Given the description of an element on the screen output the (x, y) to click on. 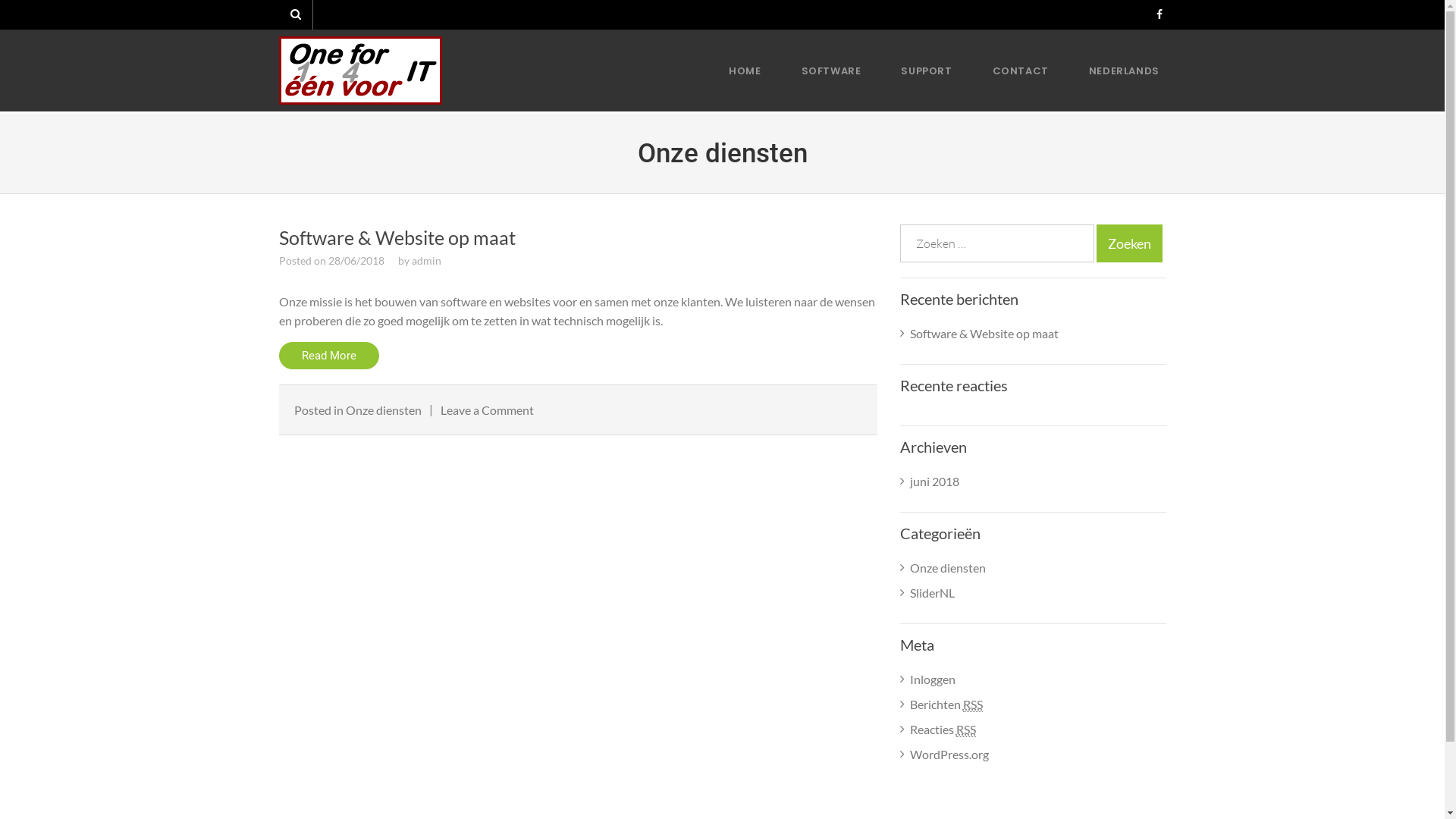
HOME Element type: text (744, 69)
Onze diensten Element type: text (947, 567)
Inloggen Element type: text (932, 678)
admin Element type: text (425, 260)
NEDERLANDS Element type: text (1114, 69)
juni 2018 Element type: text (934, 480)
WordPress.org Element type: text (949, 753)
Berichten RSS Element type: text (946, 704)
SUPPORT Element type: text (925, 69)
Skip to content Element type: text (0, 0)
CONTACT Element type: text (1020, 69)
Onze diensten Element type: text (383, 409)
Zoeken Element type: text (1129, 243)
Leave a Comment
on Software & Website op maat Element type: text (486, 409)
Software & Website op maat Element type: text (984, 333)
SOFTWARE Element type: text (831, 69)
SliderNL Element type: text (932, 592)
Read More Element type: text (329, 355)
Reacties RSS Element type: text (942, 729)
28/06/2018 Element type: text (355, 260)
Software & Website op maat Element type: text (397, 236)
